Given the description of an element on the screen output the (x, y) to click on. 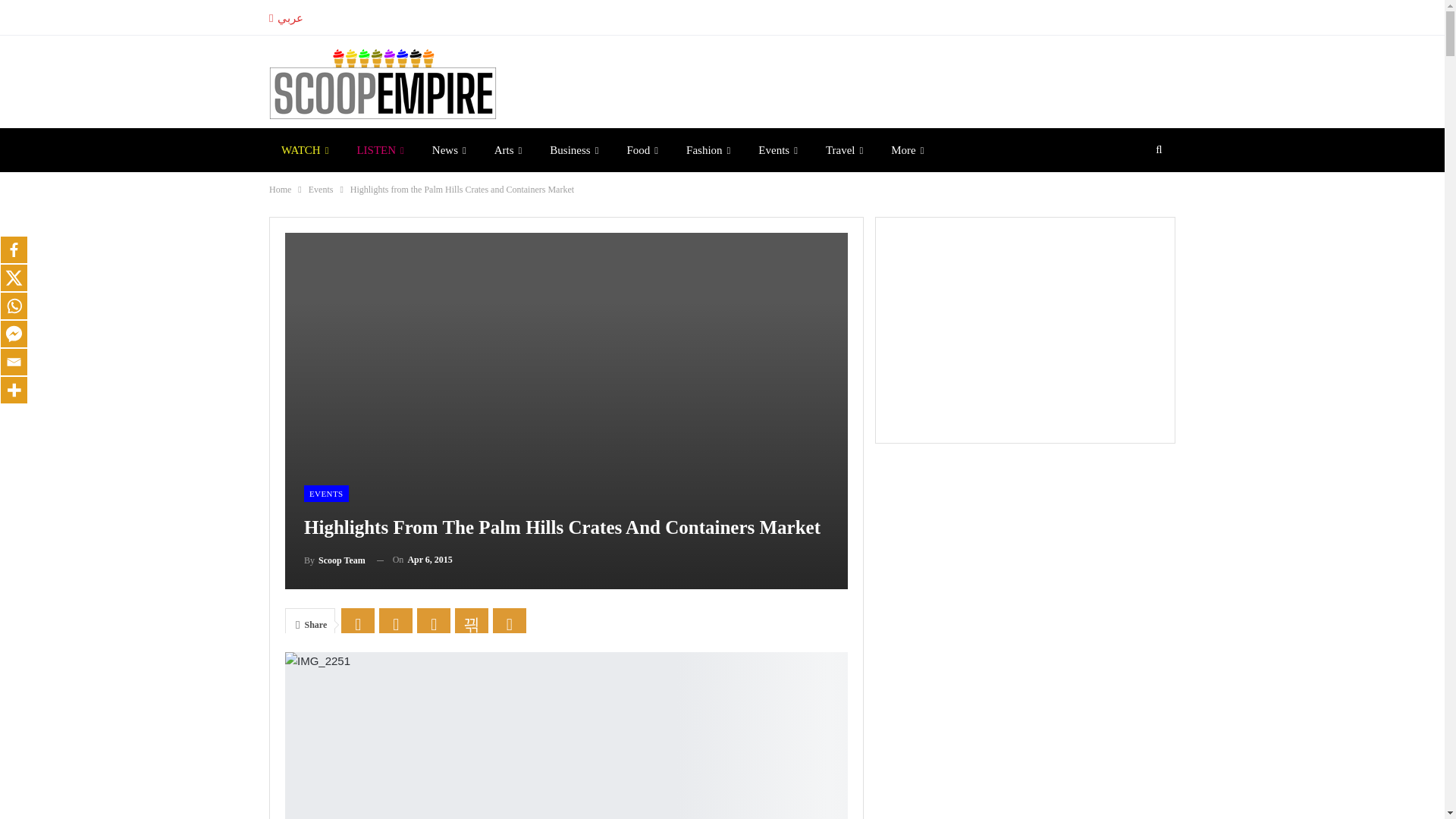
Arts (507, 149)
LISTEN (378, 149)
News (449, 149)
Business (573, 149)
WATCH (304, 149)
